Given the description of an element on the screen output the (x, y) to click on. 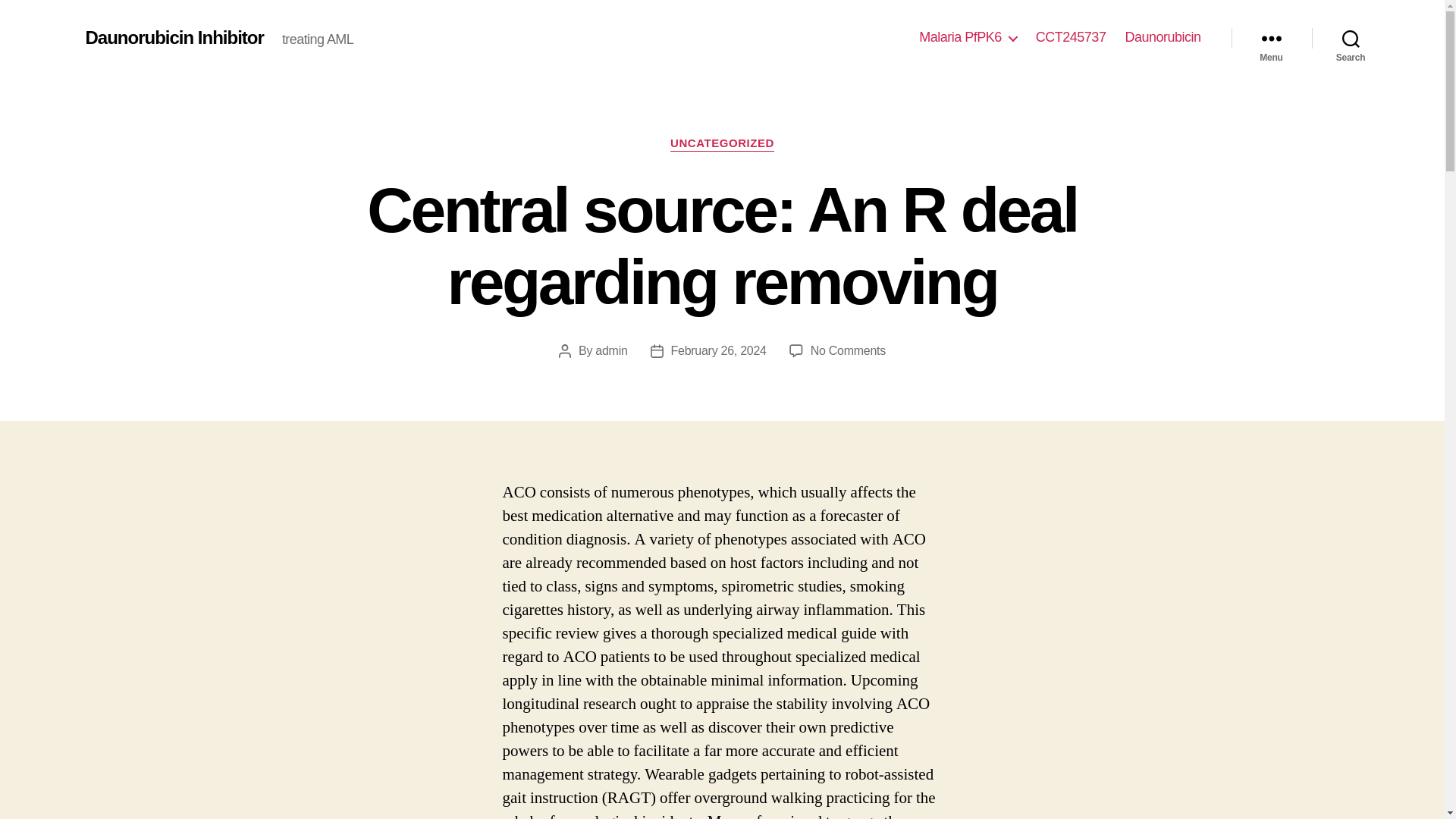
UNCATEGORIZED (721, 143)
Search (1350, 37)
admin (611, 350)
CCT245737 (1070, 37)
Menu (1271, 37)
Malaria PfPK6 (967, 37)
Daunorubicin Inhibitor (173, 37)
Daunorubicin (1161, 37)
